Given the description of an element on the screen output the (x, y) to click on. 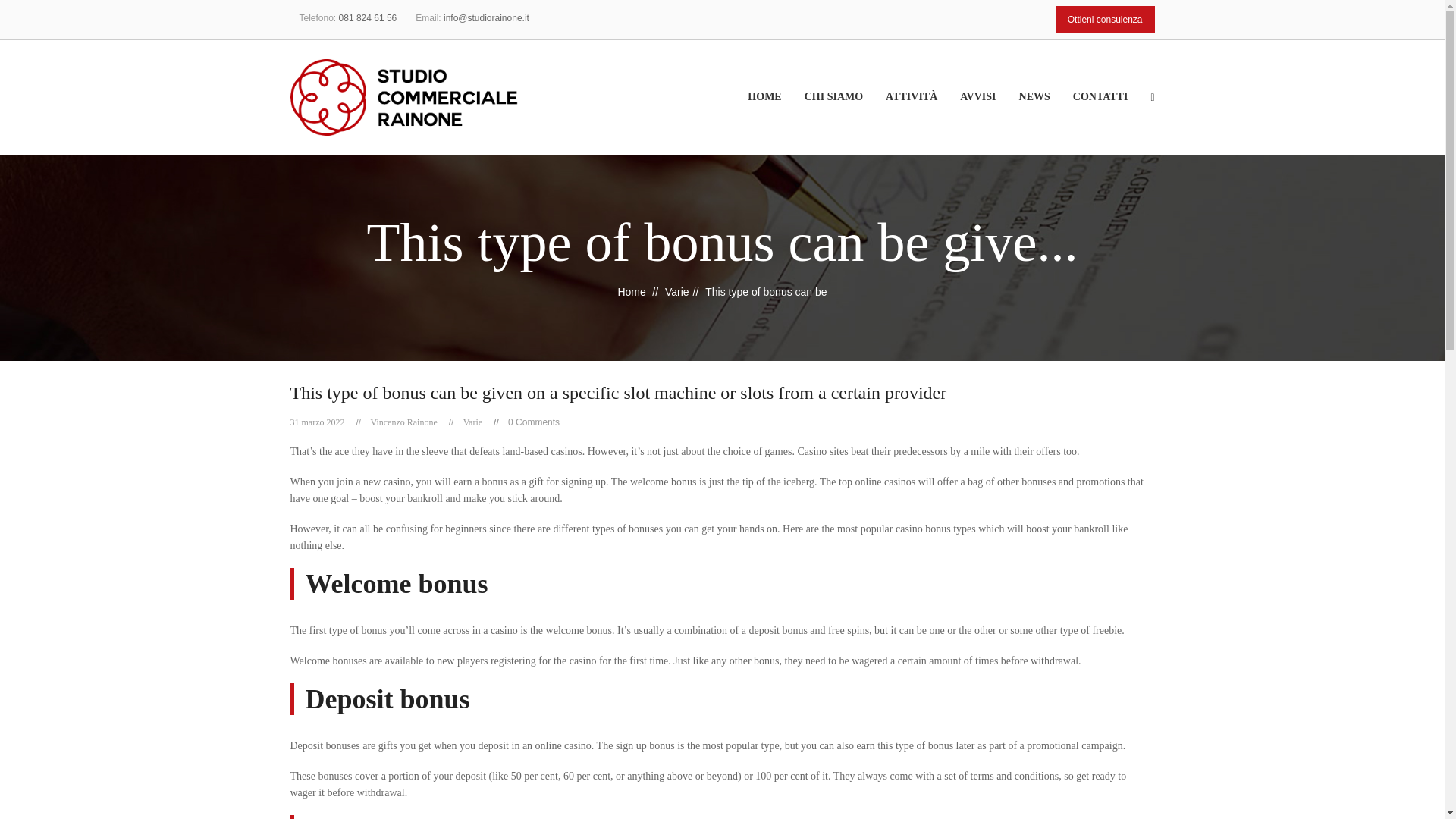
081 824 61 56 (368, 18)
NEWS (1046, 111)
HOME (775, 111)
31 marzo 2022 (316, 421)
CONTATTI (1112, 111)
Varie (472, 421)
AVVISI (988, 111)
Varie (472, 421)
Ottieni consulenza (1104, 19)
Varie (676, 291)
CHI SIAMO (845, 111)
Vincenzo Rainone (402, 421)
Home (631, 291)
